Given the description of an element on the screen output the (x, y) to click on. 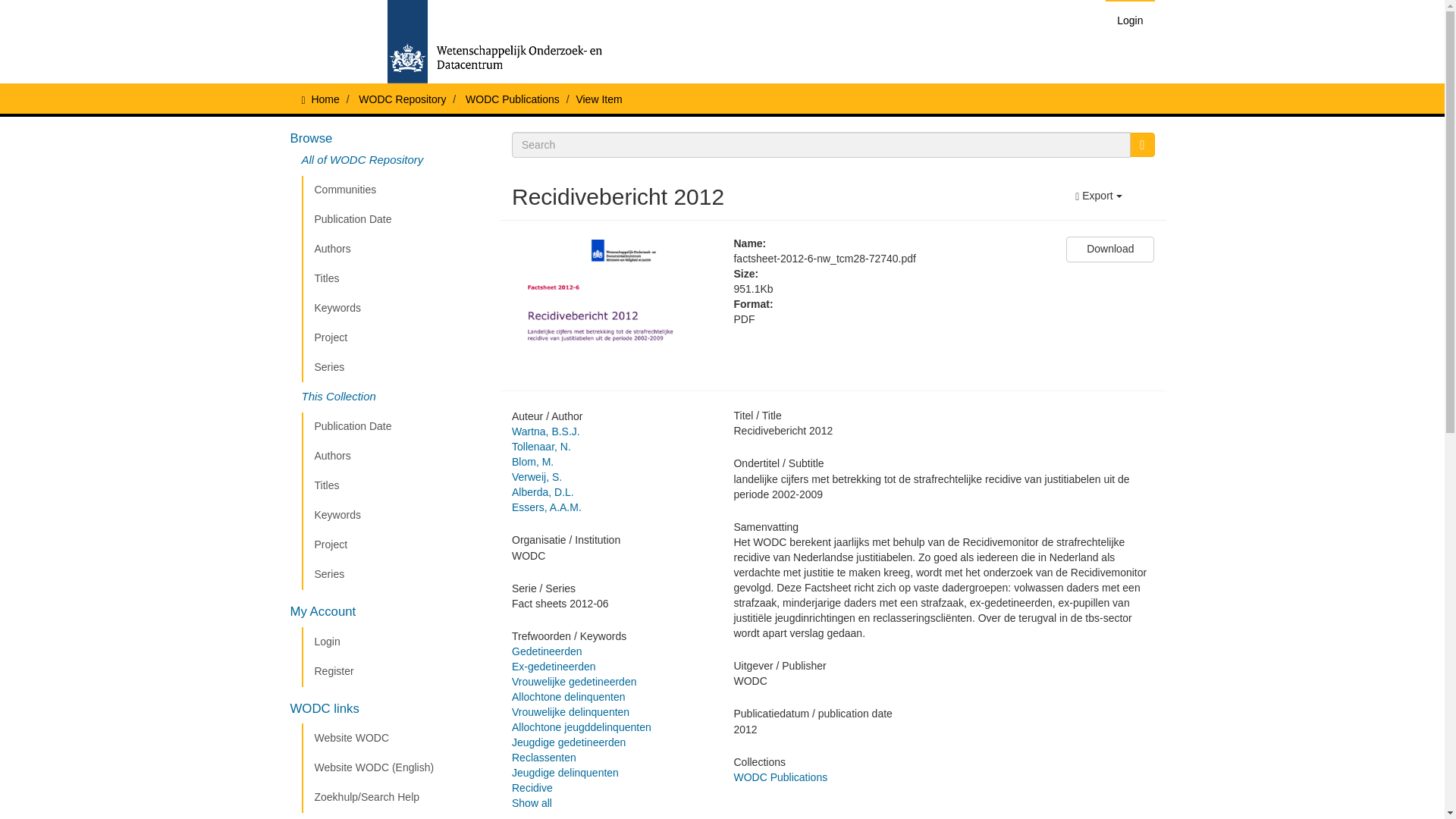
Authors (395, 456)
Project (395, 544)
Export (1098, 196)
Authors (395, 249)
Project (395, 337)
WODC Repository (401, 99)
Publication Date (395, 219)
Series (395, 574)
Titles (395, 485)
Titles (395, 278)
